Given the description of an element on the screen output the (x, y) to click on. 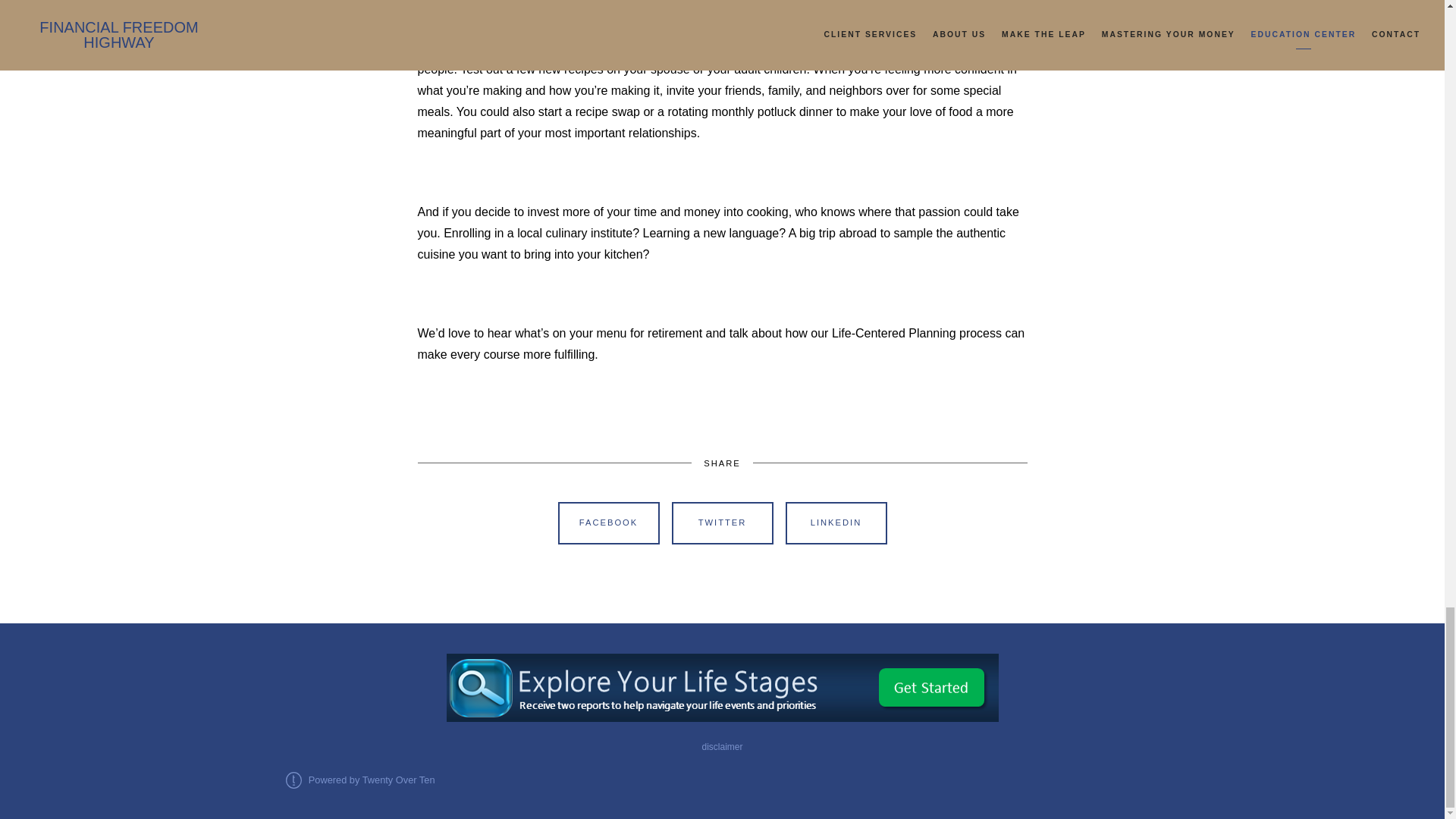
disclaimer (721, 747)
FACEBOOK (608, 523)
Powered by Twenty Over Ten (359, 779)
LINKEDIN (836, 523)
TWITTER (722, 523)
